Given the description of an element on the screen output the (x, y) to click on. 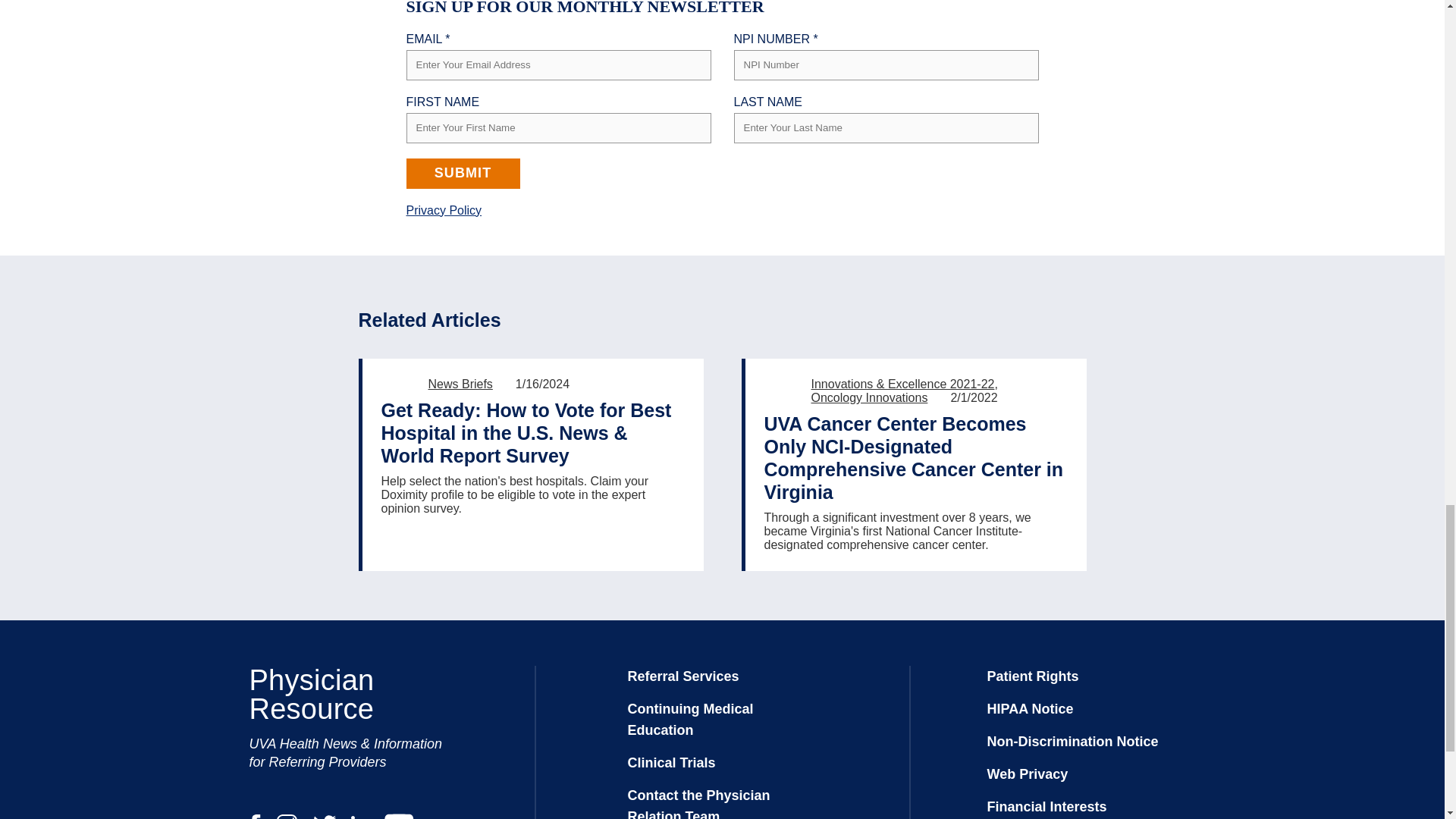
Last Name (886, 127)
Submit (462, 173)
HIPAA Notice (1030, 708)
NPI Number (886, 64)
Patient Rights (1032, 676)
Referral Services (683, 676)
Privacy Policy (443, 209)
Financial Interests (1046, 806)
Contact the Physician Relation Team (698, 803)
Web Privacy (1027, 774)
News Briefs (460, 383)
Clinical Trials (671, 762)
Submit (462, 173)
Non-Discrimination Notice (1072, 741)
First Name (558, 127)
